Given the description of an element on the screen output the (x, y) to click on. 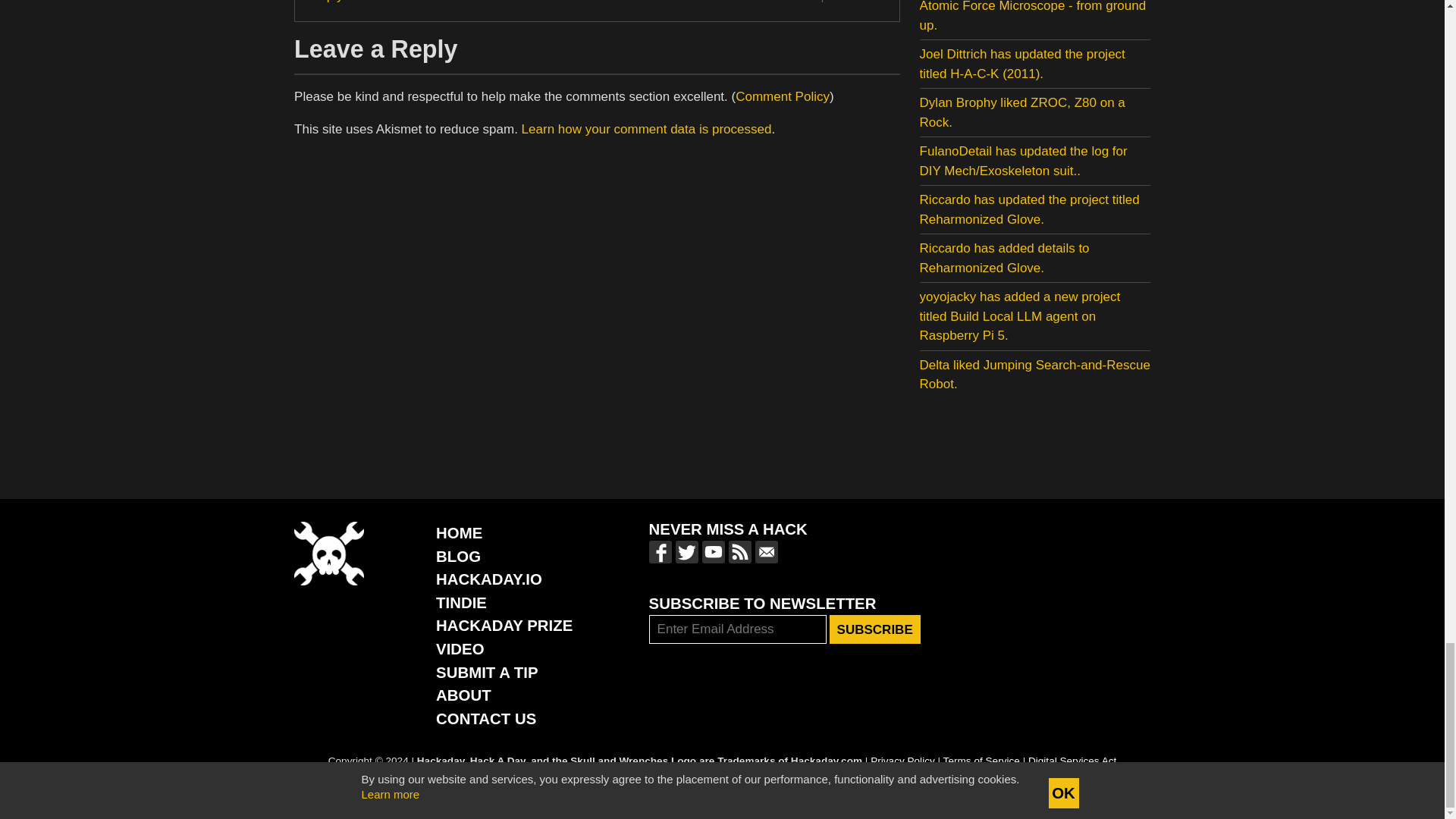
Subscribe (874, 629)
Build Something that Matters (503, 625)
